Given the description of an element on the screen output the (x, y) to click on. 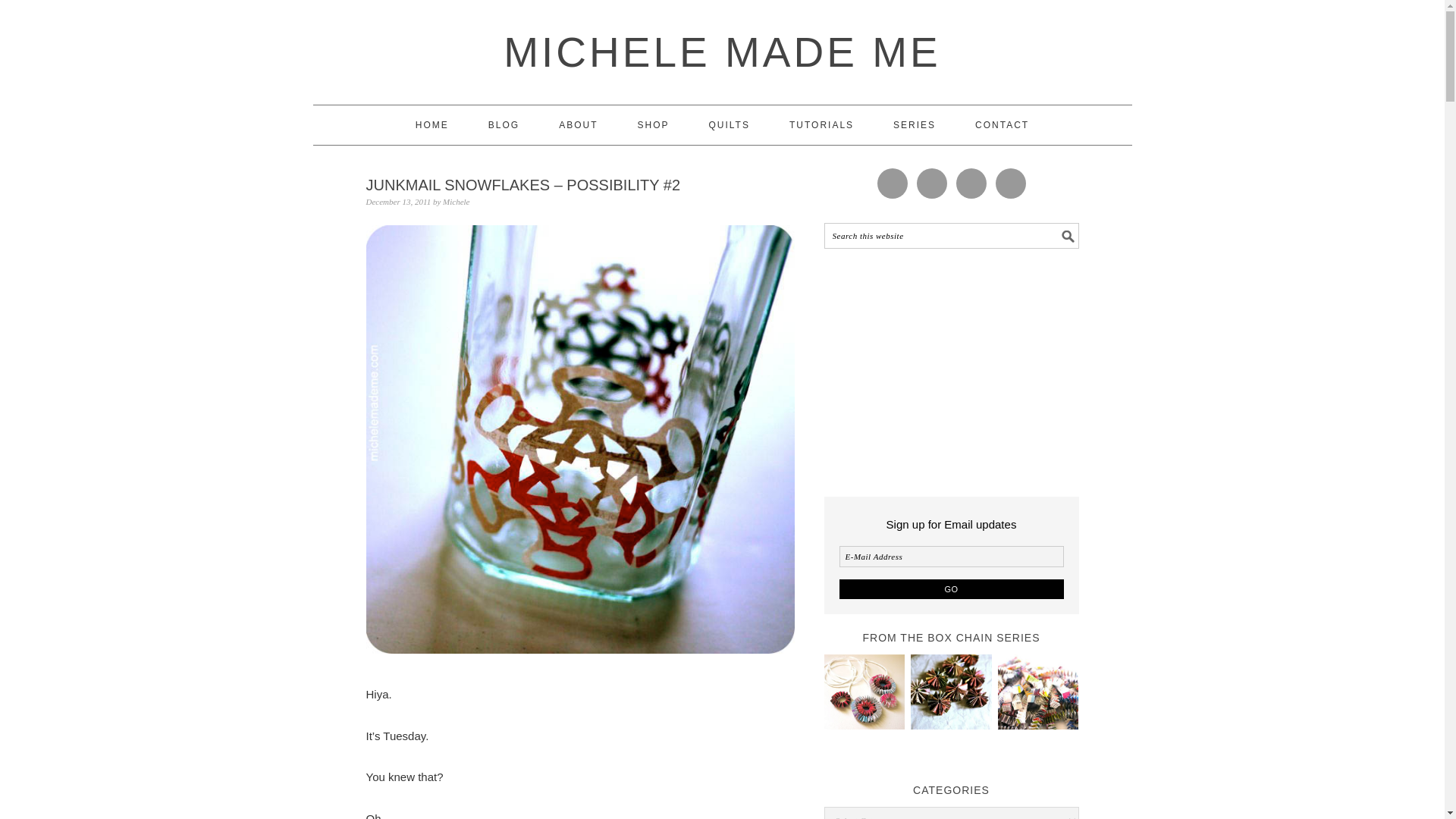
Kid Craft: Box Chain Pendant and Ring (864, 693)
BLOG (503, 124)
CONTACT (1002, 124)
MICHELE MADE ME (721, 52)
Advertisement (951, 369)
Michele (455, 201)
ABOUT (577, 124)
QUILTS (729, 124)
SHOP (652, 124)
TUTORIALS (821, 124)
Go (950, 588)
SERIES (915, 124)
